Given the description of an element on the screen output the (x, y) to click on. 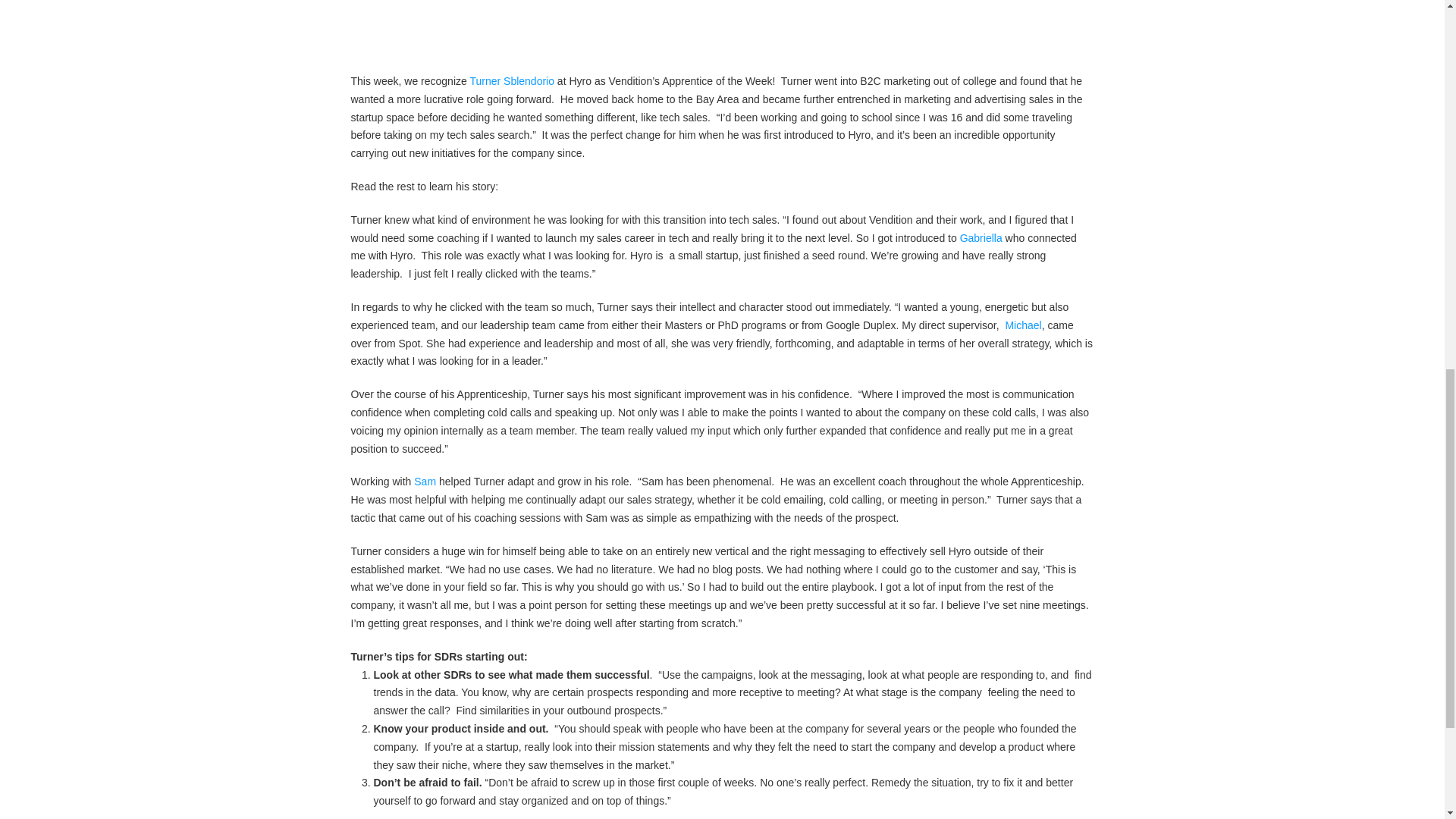
Gabriella (981, 237)
Turner Sblendorio (511, 80)
Sam (424, 481)
Michael (1022, 325)
